Given the description of an element on the screen output the (x, y) to click on. 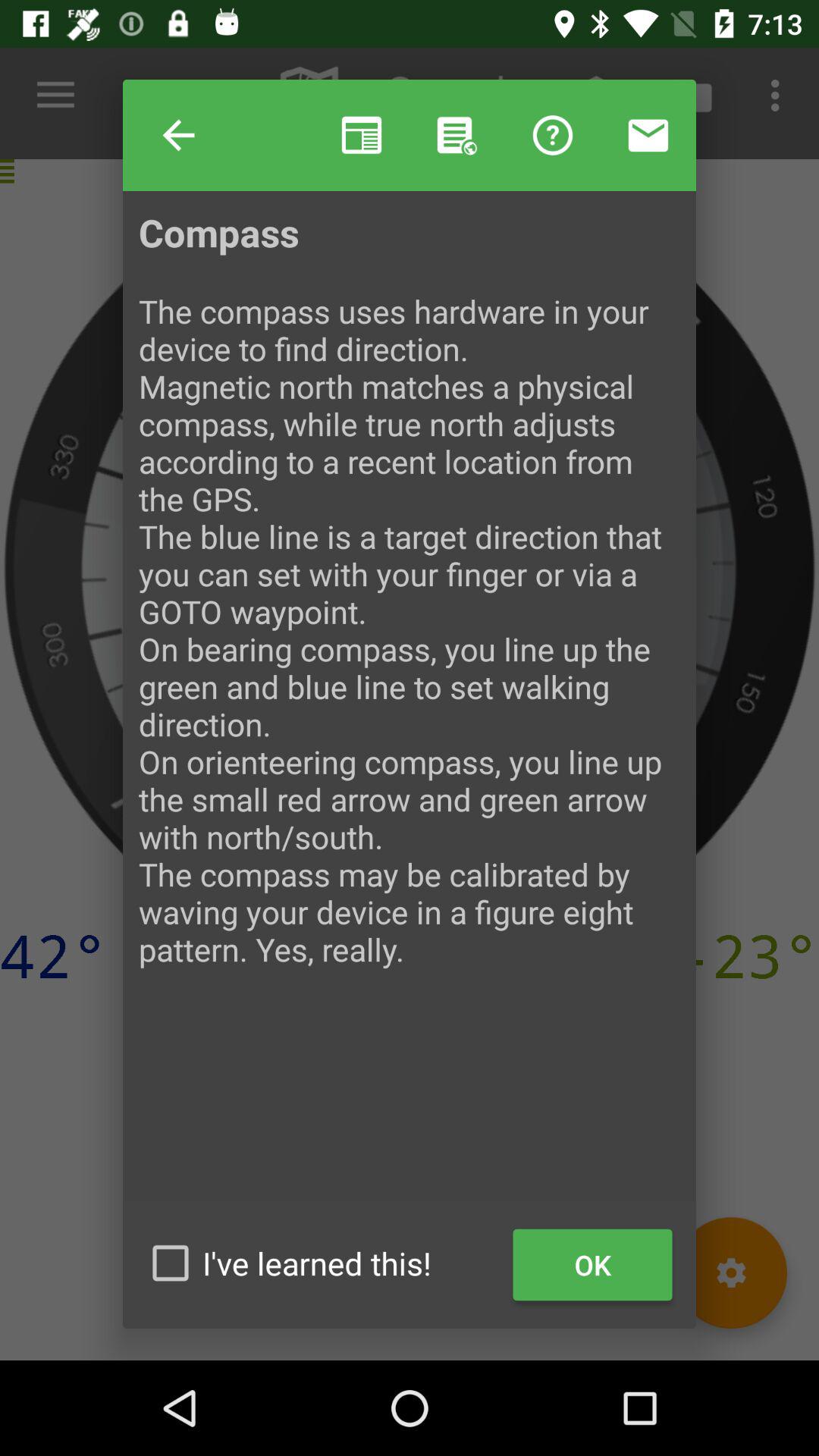
turn on item at the bottom right corner (592, 1264)
